Given the description of an element on the screen output the (x, y) to click on. 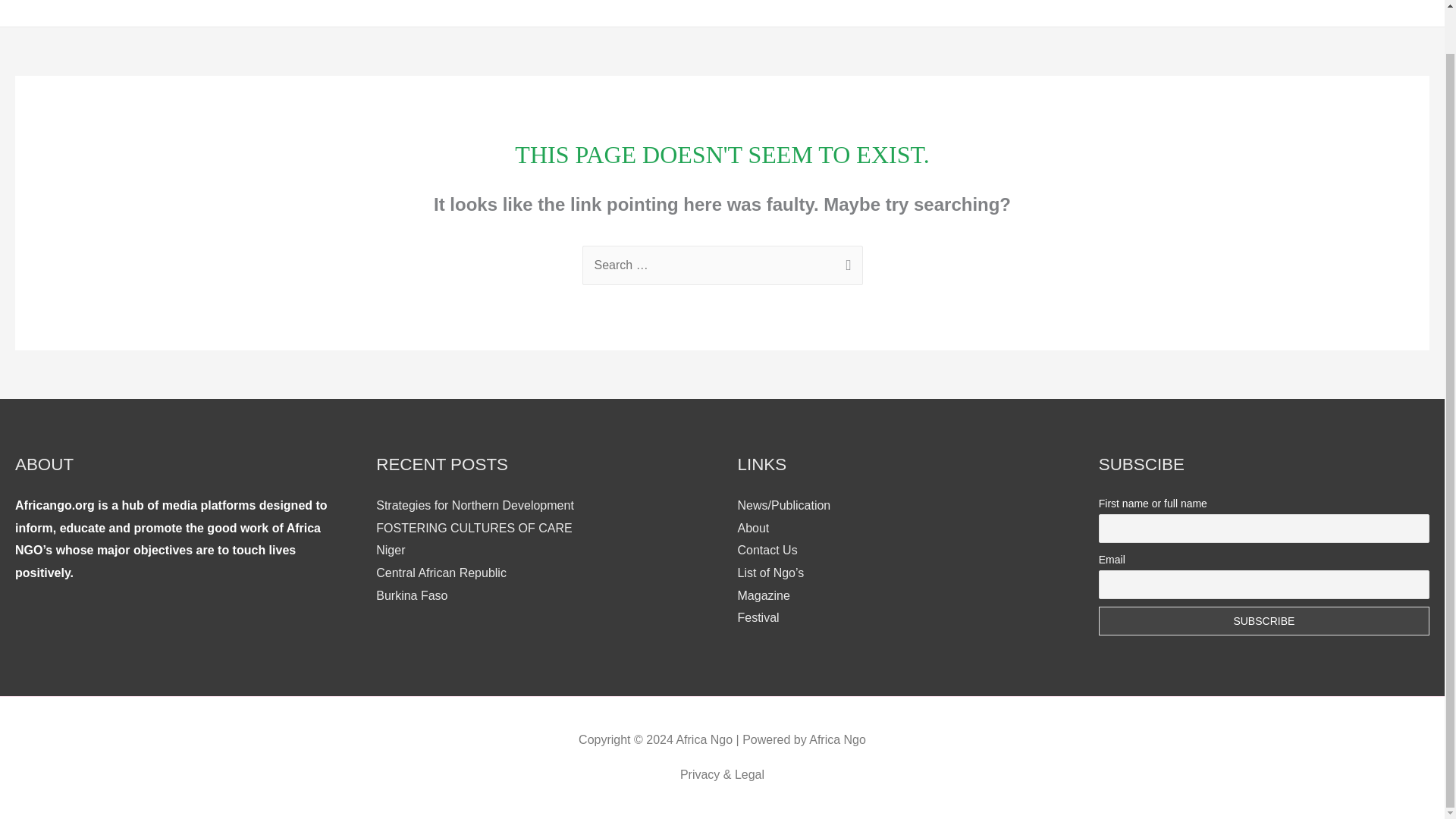
Contact Us (1387, 7)
Central African Republic (440, 572)
Festival (757, 617)
Niger (389, 549)
About (752, 527)
Home (1077, 7)
FOSTERING CULTURES OF CARE (473, 527)
Festival (1255, 7)
Subscribe (1264, 620)
Burkina Faso (410, 594)
